Given the description of an element on the screen output the (x, y) to click on. 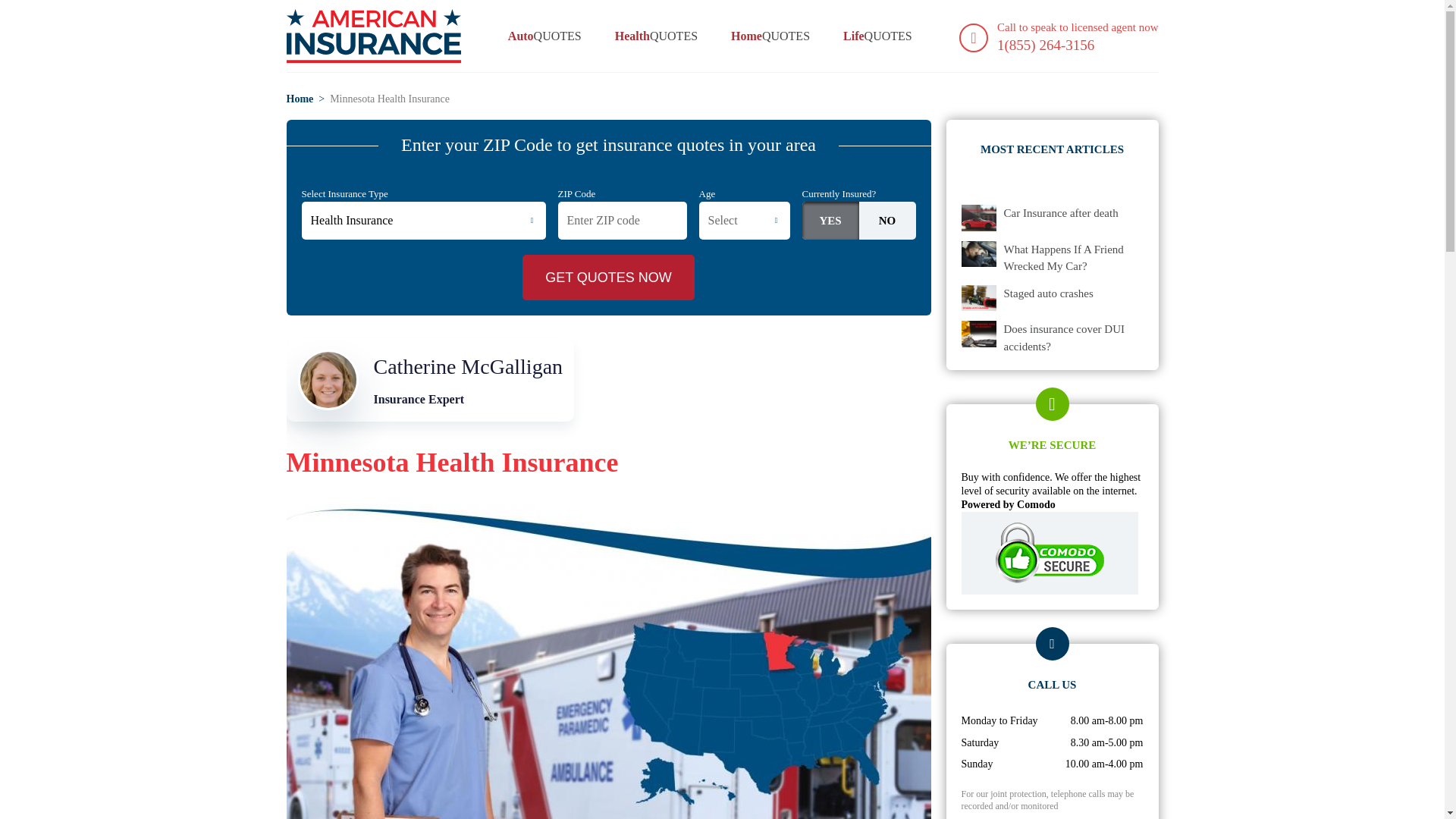
Car Insurance after death (1061, 212)
HomeQUOTES (769, 35)
Home (300, 98)
Staged auto crashes (1048, 293)
GET QUOTES NOW (608, 277)
LifeQUOTES (877, 35)
What Happens If A Friend Wrecked My Car? (1073, 257)
Does insurance cover DUI accidents? (430, 379)
HealthQUOTES (1073, 337)
